Given the description of an element on the screen output the (x, y) to click on. 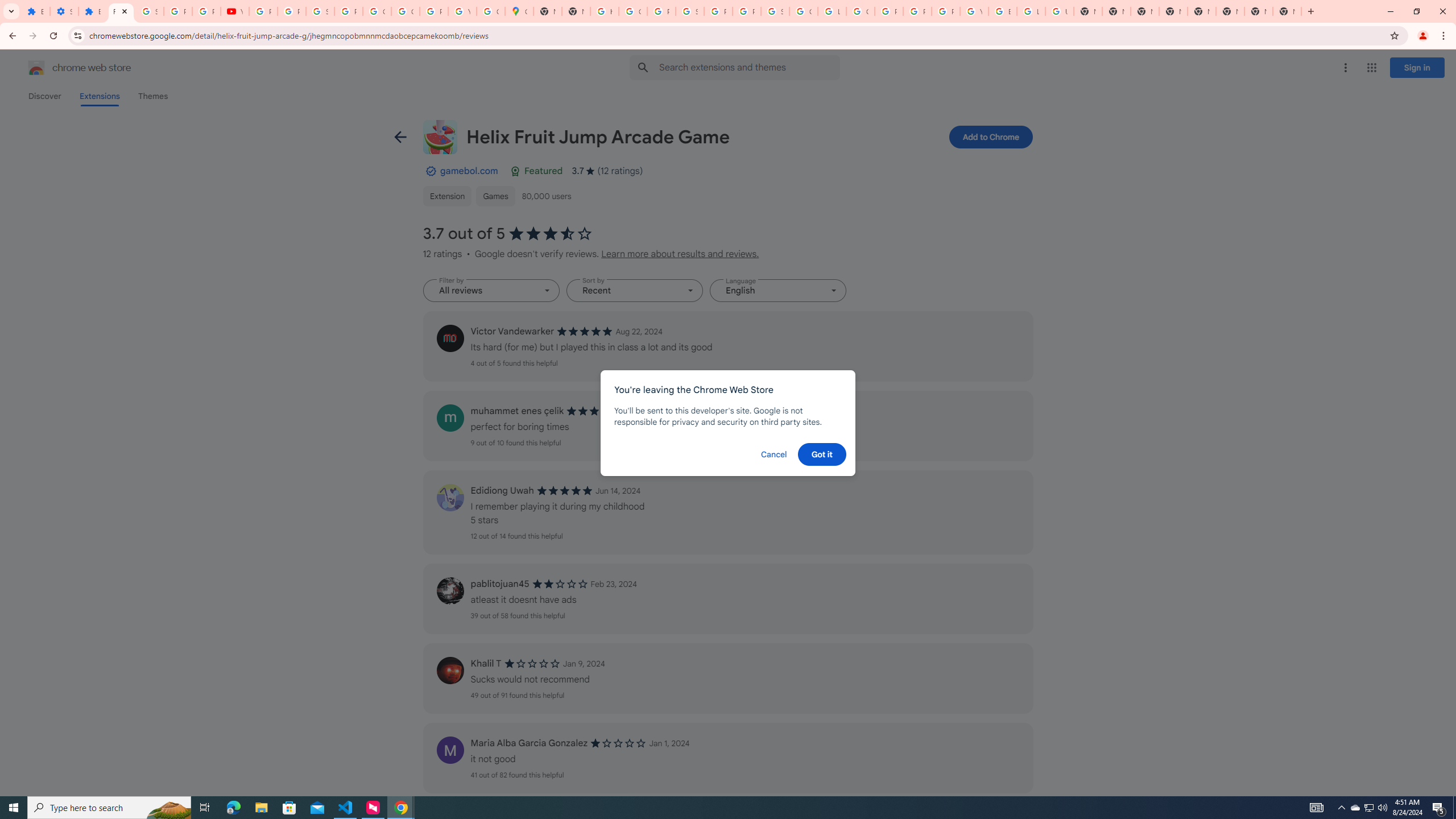
Sign in - Google Accounts (774, 11)
Privacy Help Center - Policies Help (917, 11)
New Tab (1144, 11)
YouTube (234, 11)
